Given the description of an element on the screen output the (x, y) to click on. 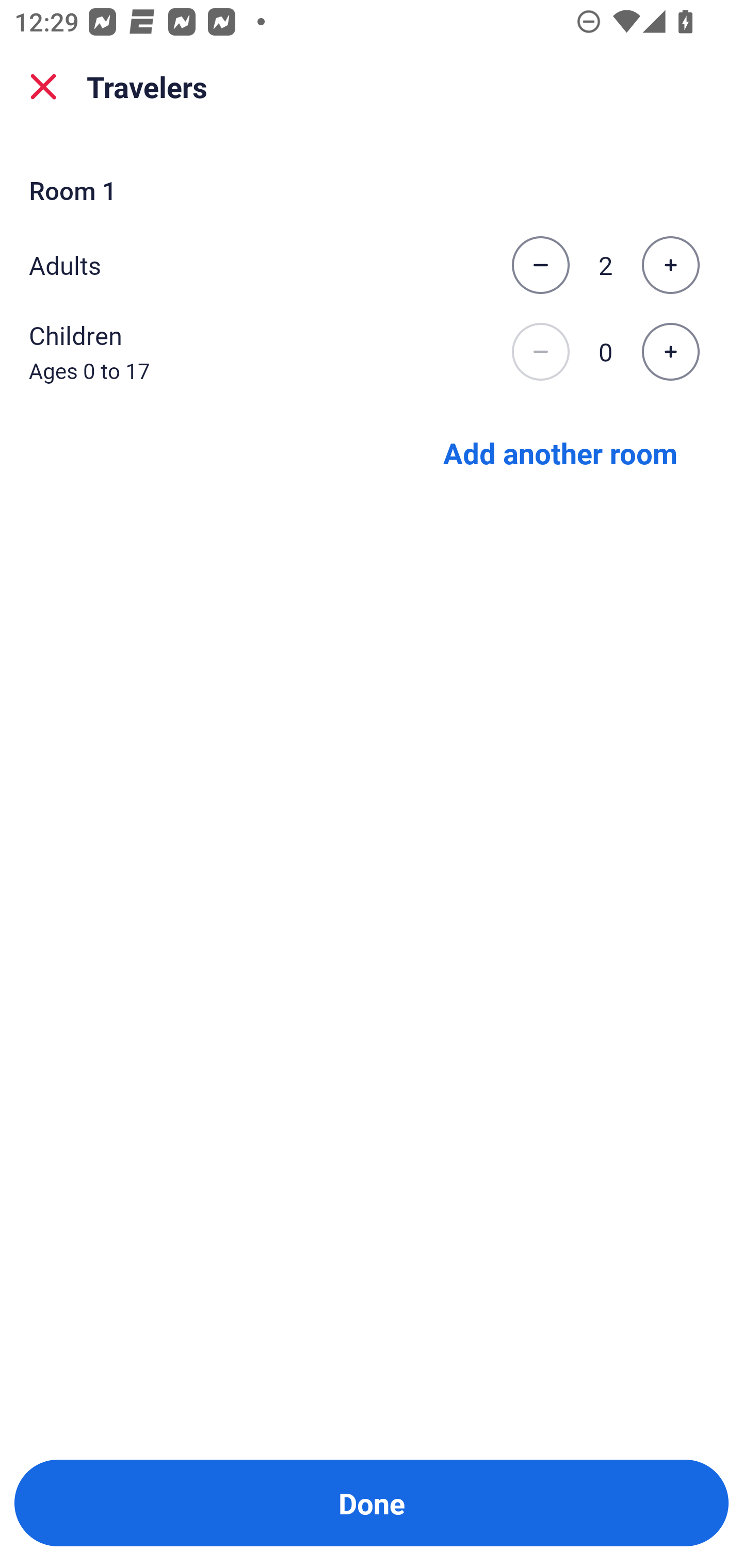
close (43, 86)
Decrease the number of adults (540, 264)
Increase the number of adults (670, 264)
Decrease the number of children (540, 351)
Increase the number of children (670, 351)
Add another room (560, 452)
Done (371, 1502)
